Given the description of an element on the screen output the (x, y) to click on. 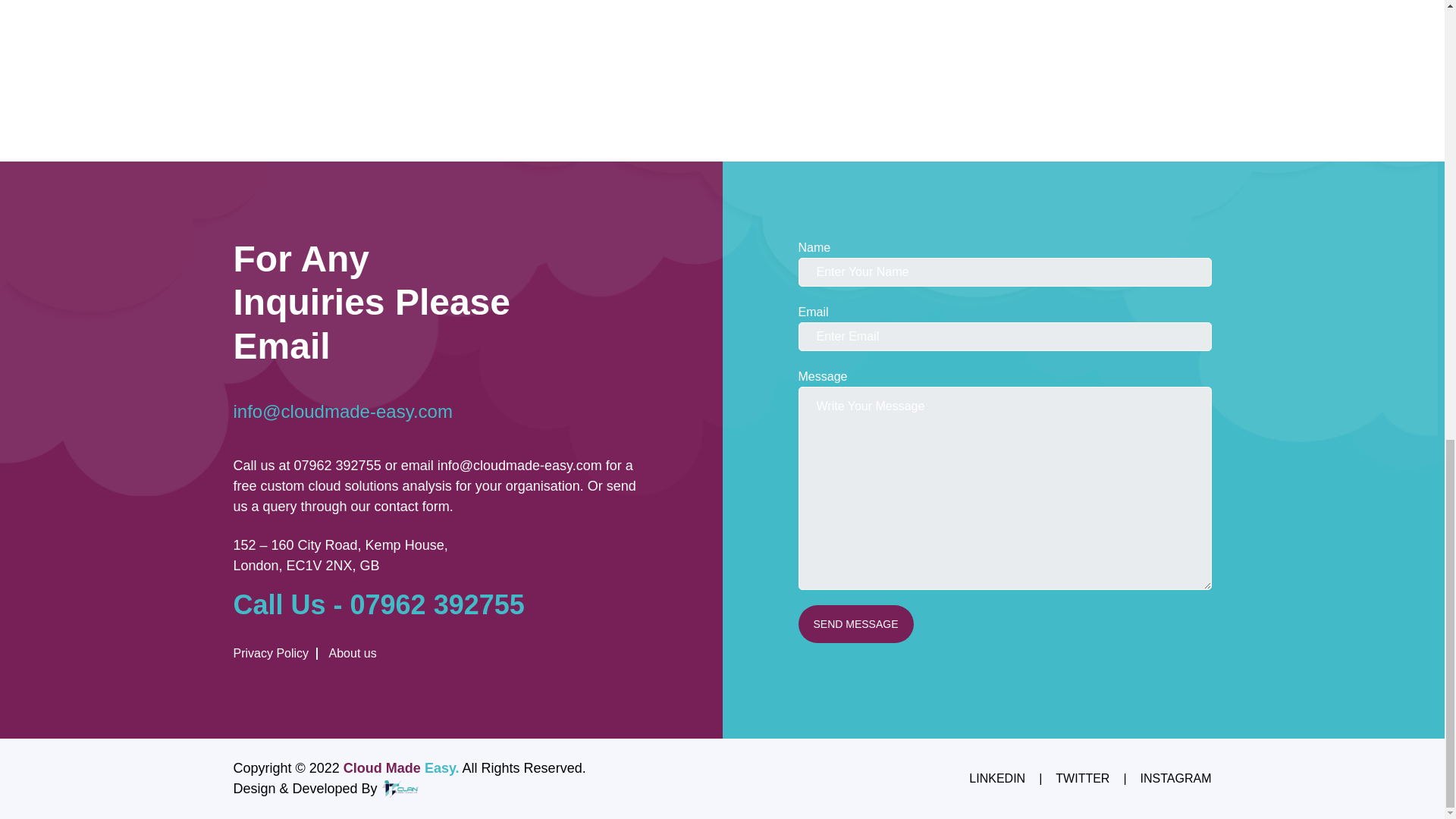
LINKEDIN (997, 778)
INSTAGRAM (1175, 778)
About us (349, 653)
Send Message (854, 623)
Send Message (854, 623)
TWITTER (1082, 778)
Privacy Policy (275, 653)
